Given the description of an element on the screen output the (x, y) to click on. 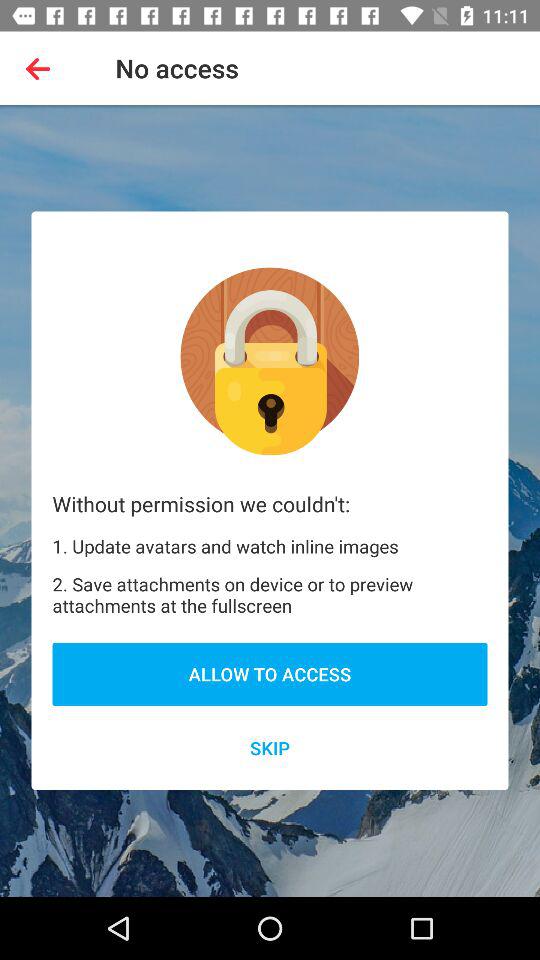
turn off the icon above the skip icon (269, 673)
